Given the description of an element on the screen output the (x, y) to click on. 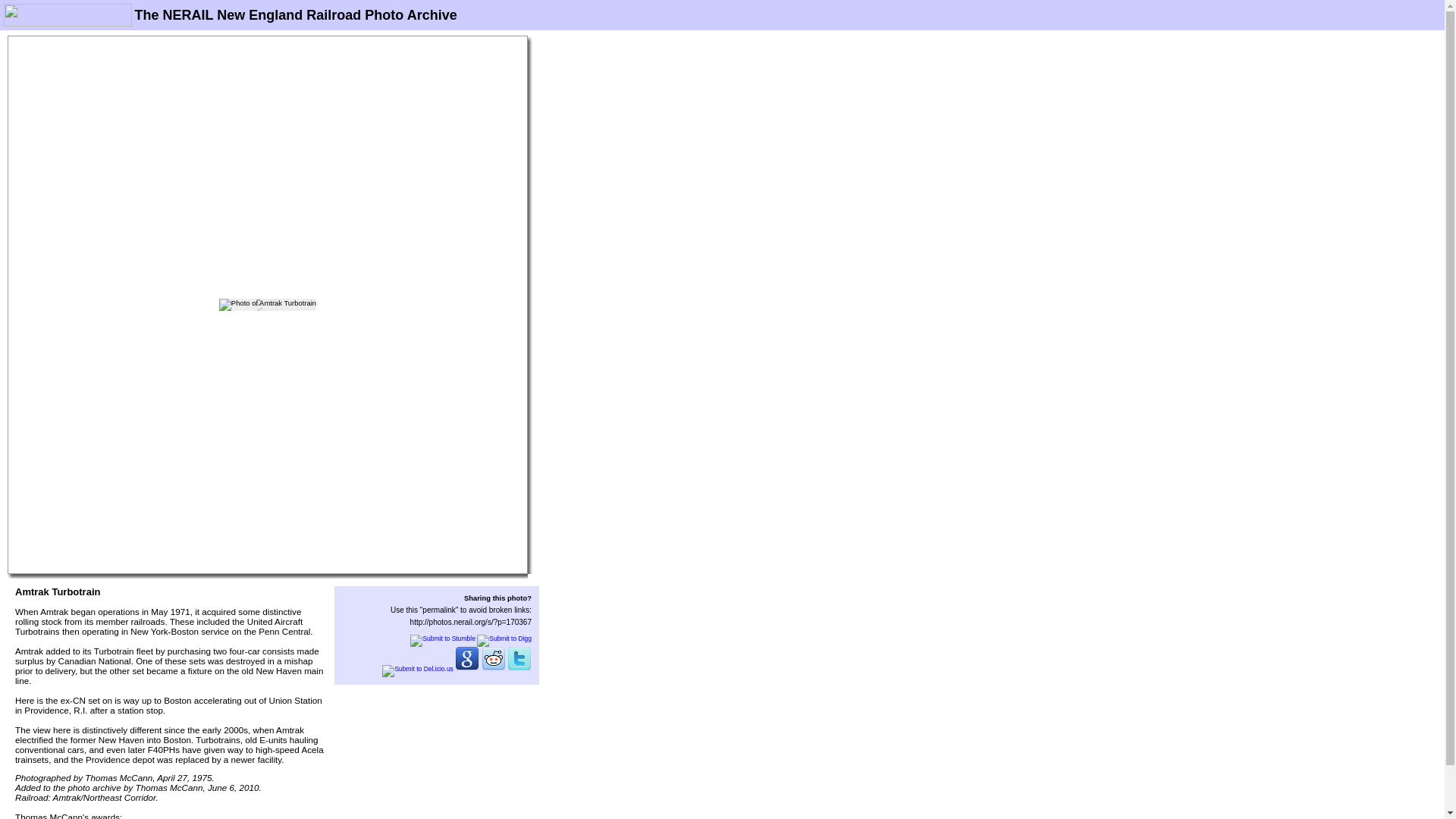
Submit to Google Bookmarks (466, 668)
Twit This (518, 668)
Submit to Stumble (442, 638)
Submit to Del.icio.us (416, 668)
Submit to Reddit (493, 668)
Submit to Digg (504, 638)
Railroad: Amtrak Turbotrain (267, 304)
